Given the description of an element on the screen output the (x, y) to click on. 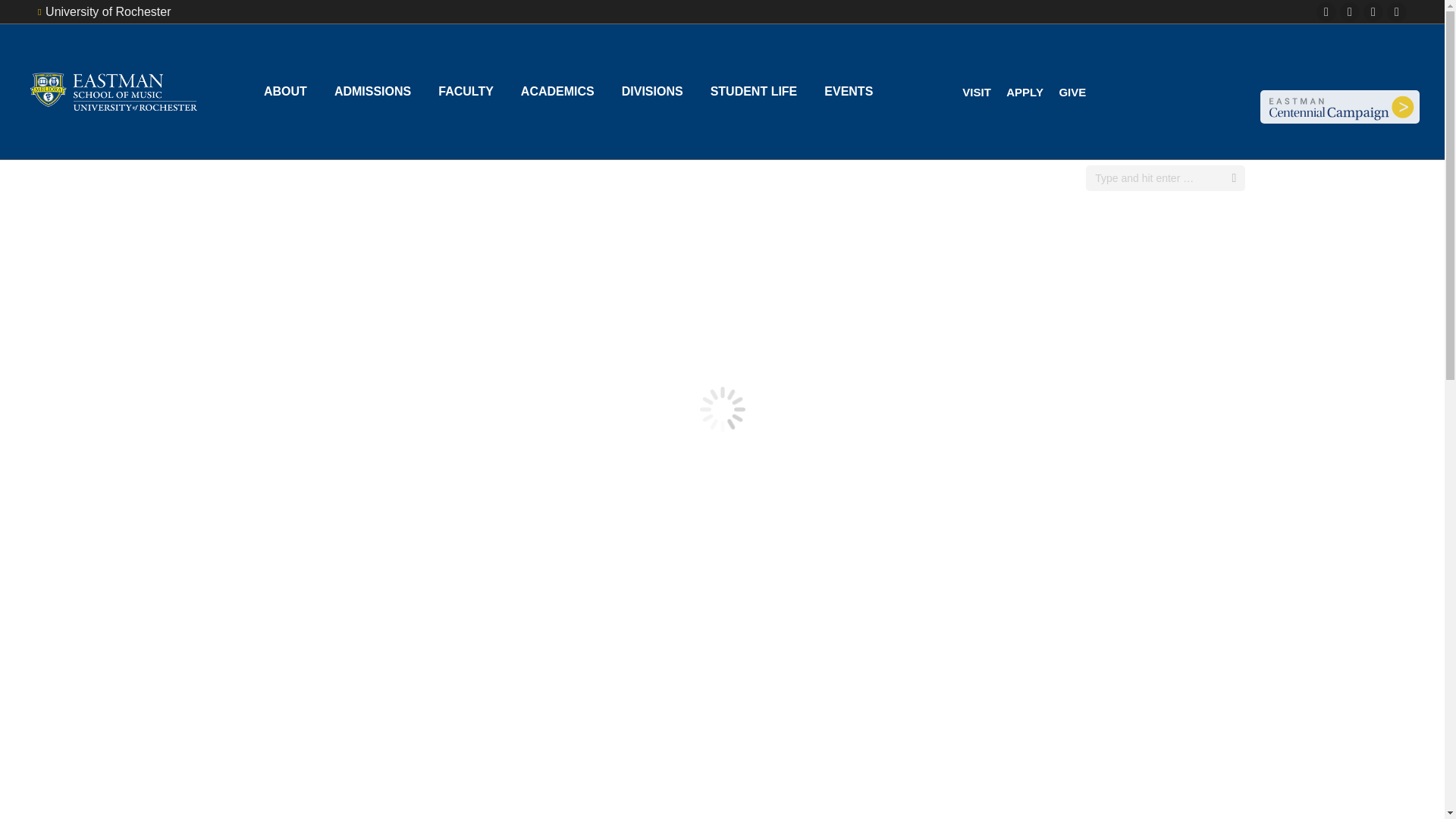
YouTube page opens in new window (1396, 12)
University of Rochester (103, 12)
Search form (1165, 177)
Linkedin page opens in new window (1372, 12)
Instagram page opens in new window (1349, 12)
Facebook page opens in new window (1326, 12)
Facebook page opens in new window (1326, 12)
YouTube page opens in new window (1396, 12)
Linkedin page opens in new window (1372, 12)
Instagram page opens in new window (1349, 12)
